Given the description of an element on the screen output the (x, y) to click on. 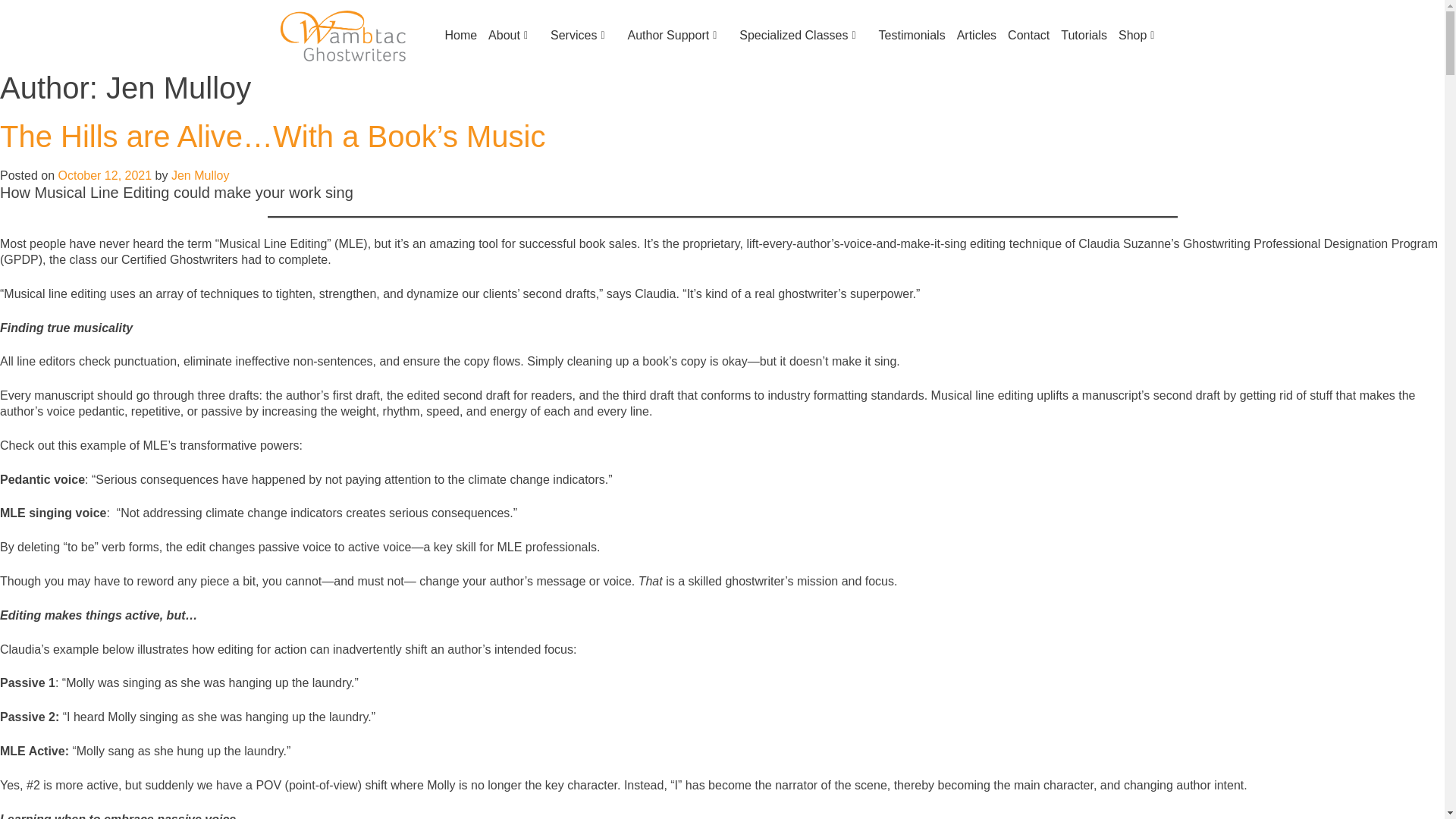
About (507, 35)
Wambtac Ghostwriters (343, 33)
Home (454, 35)
